Given the description of an element on the screen output the (x, y) to click on. 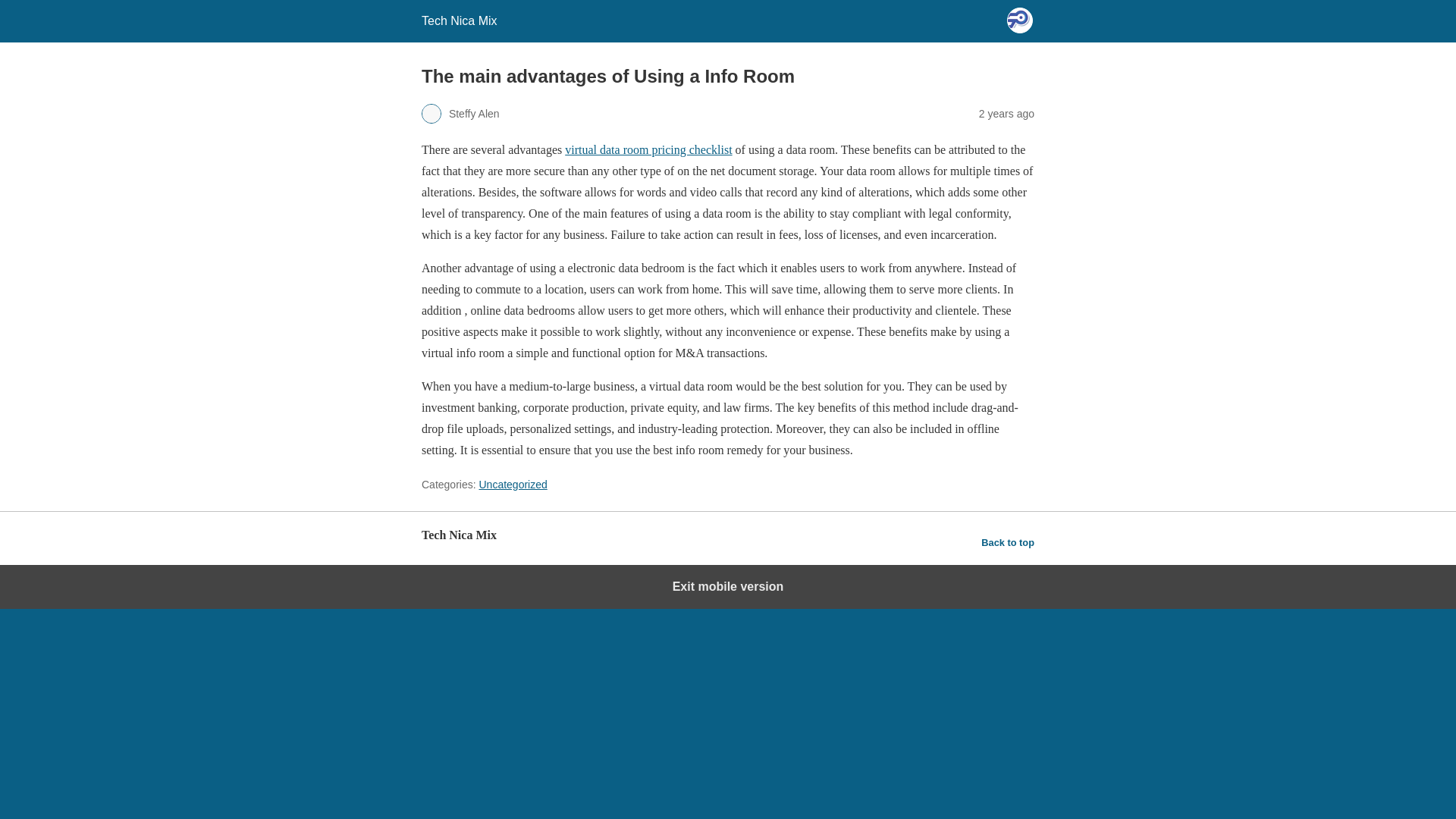
Tech Nica Mix (459, 20)
Uncategorized (513, 484)
virtual data room pricing checklist (648, 149)
Back to top (1007, 542)
